Given the description of an element on the screen output the (x, y) to click on. 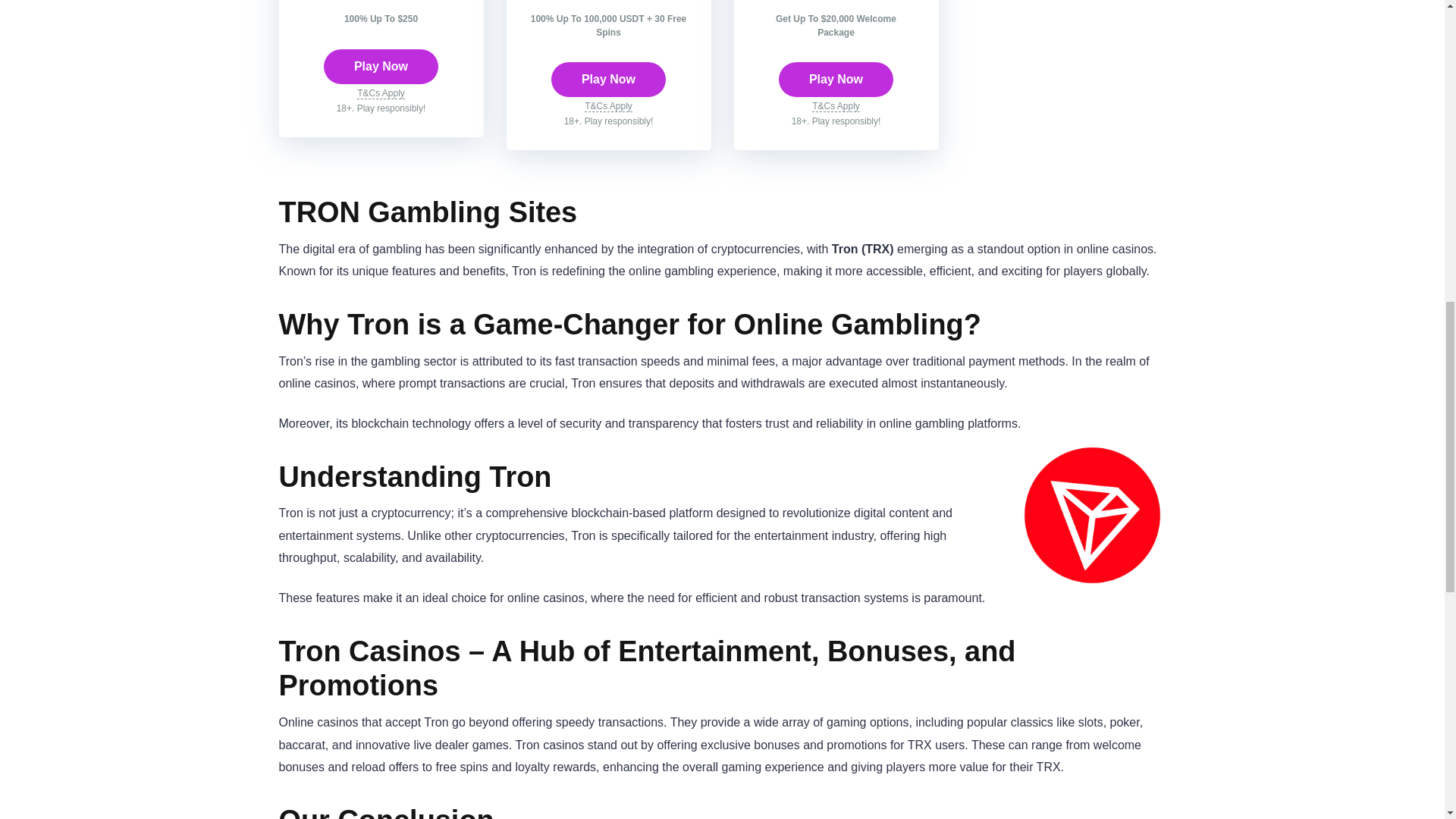
Play Now (835, 79)
Play Now (380, 66)
Play Now (608, 79)
